Given the description of an element on the screen output the (x, y) to click on. 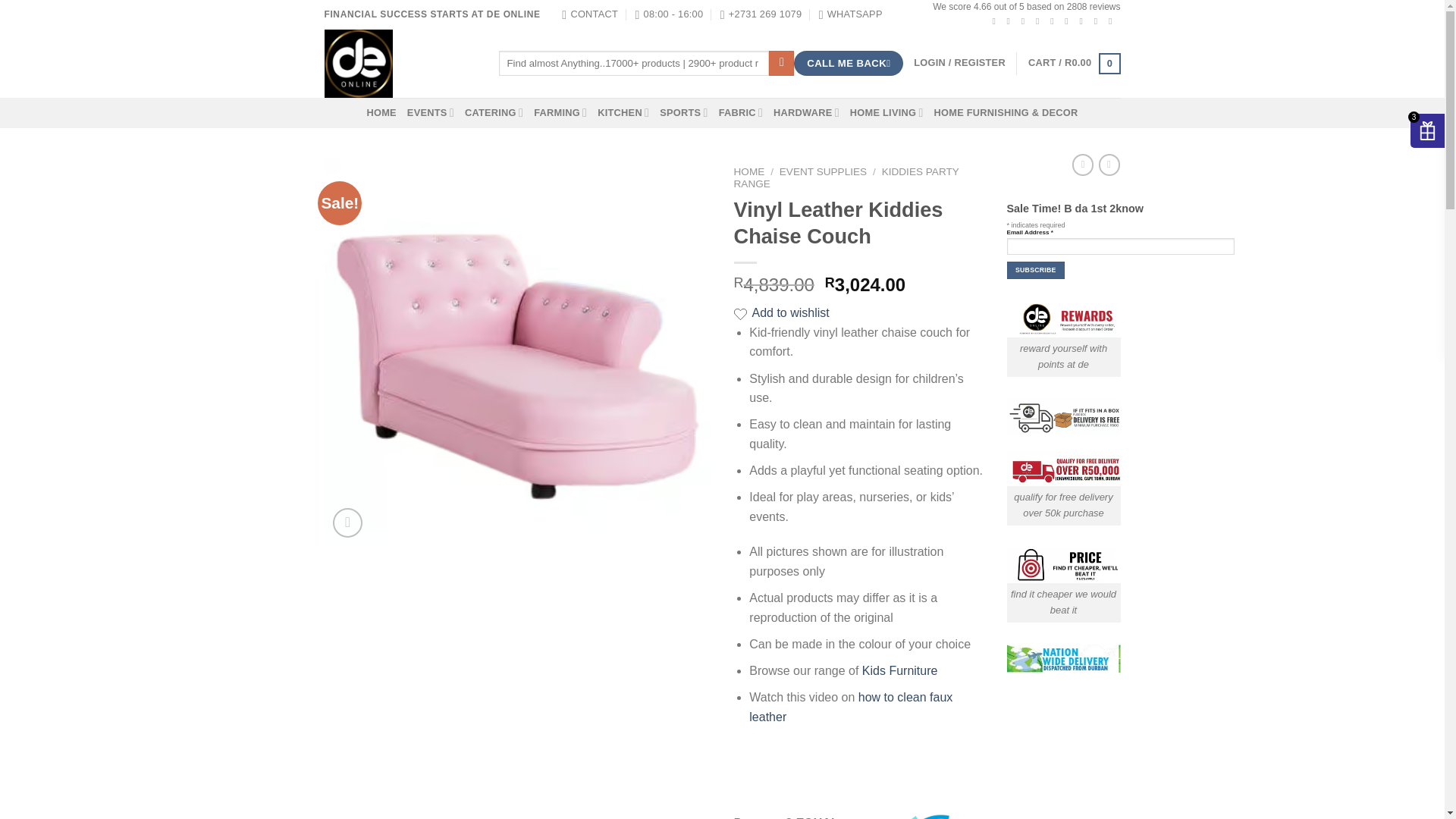
Search (780, 63)
27614925009 (850, 14)
HOME (381, 112)
EVENTS (430, 112)
CONTACT (589, 14)
08:00 - 16:00 (668, 14)
Subscribe (1036, 270)
WHATSAPP (850, 14)
08:00 - 16:00  (668, 14)
